Given the description of an element on the screen output the (x, y) to click on. 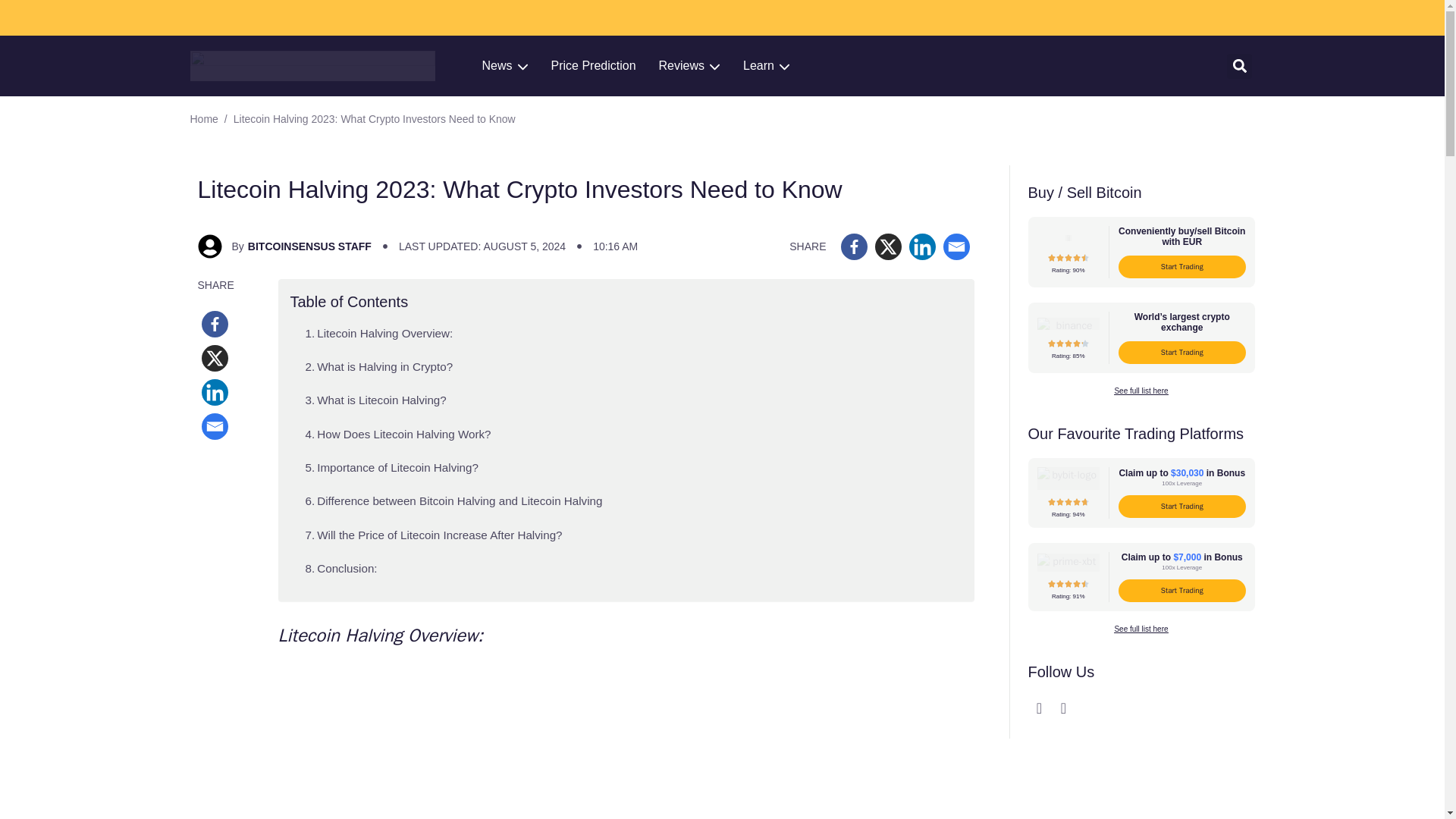
Price Prediction (593, 65)
Facebook (215, 324)
Reviews (689, 65)
Learn (767, 65)
X (888, 246)
Litecoin Halving Overview: (379, 333)
X (215, 357)
Difference between Bitcoin Halving and Litecoin Halving (454, 501)
Importance of Litecoin Halving? (391, 467)
Email (956, 246)
